Given the description of an element on the screen output the (x, y) to click on. 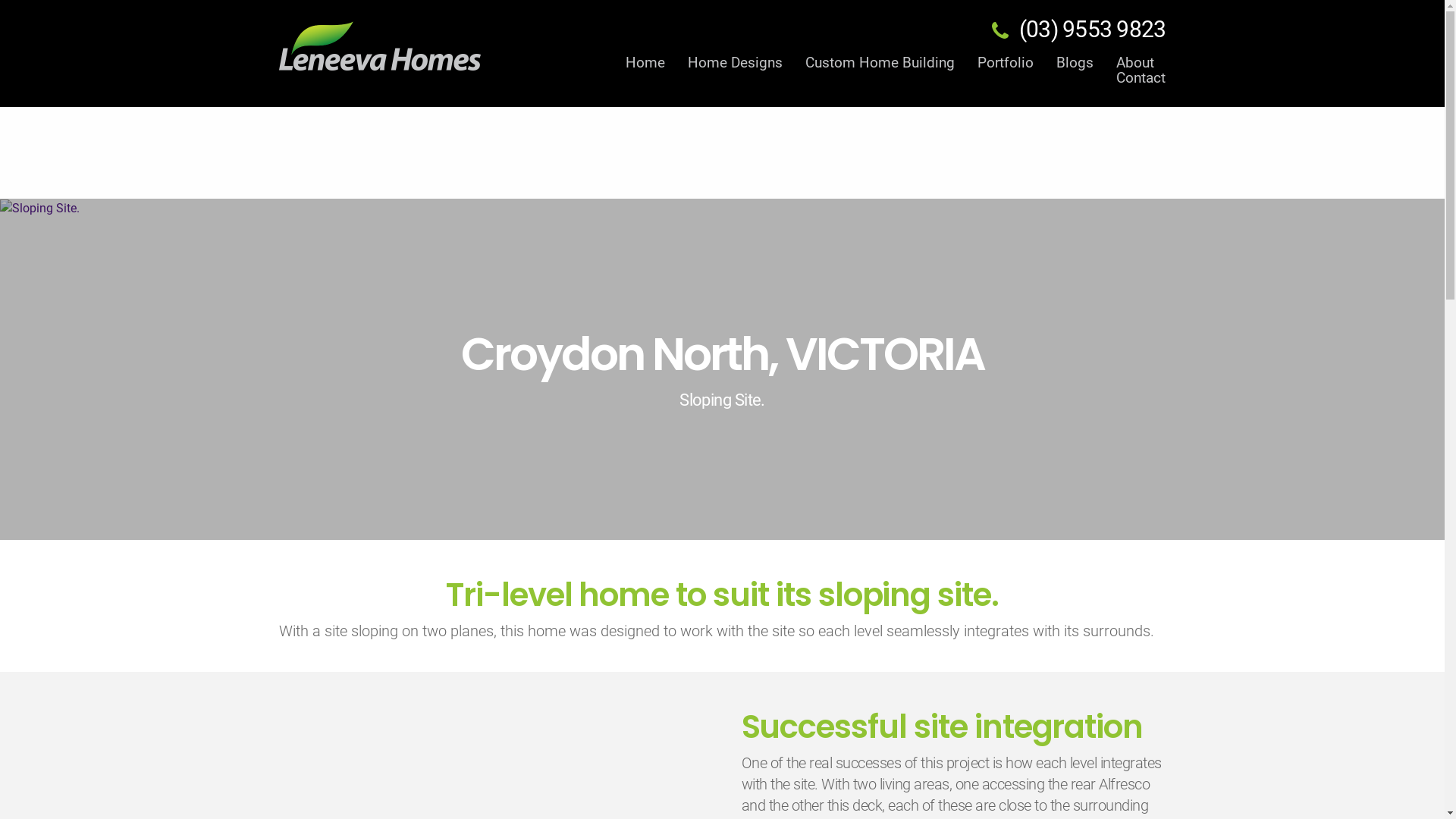
Contact Element type: text (1137, 77)
Home Designs Element type: text (734, 62)
Blogs Element type: text (1074, 62)
About Element type: text (1134, 62)
Portfolio Element type: text (1005, 62)
Custom Home Building Element type: text (879, 62)
(03) 9553 9823 Element type: text (1092, 28)
Home Element type: text (650, 62)
